Given the description of an element on the screen output the (x, y) to click on. 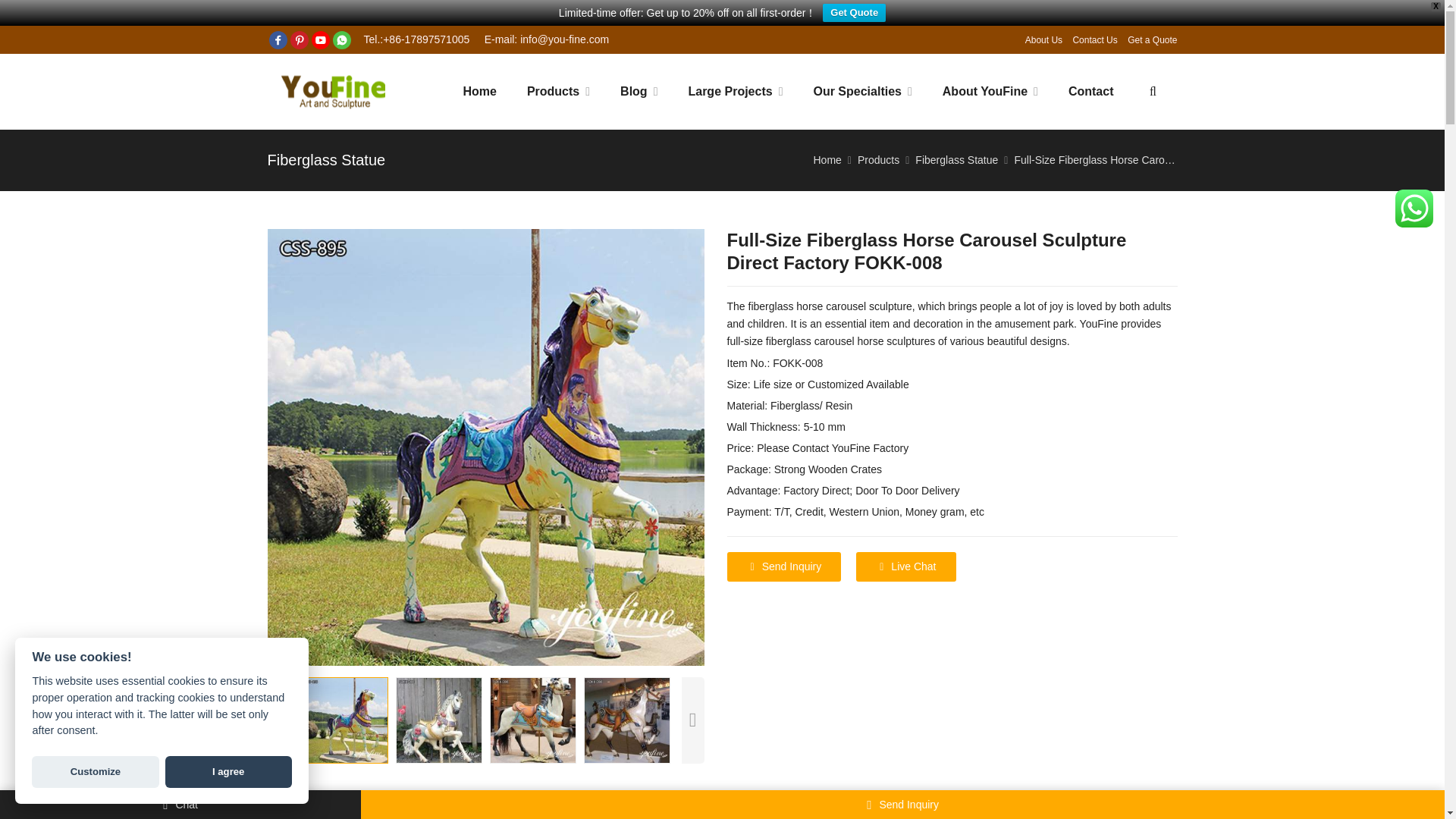
YouTube (319, 40)
Contact Us (1093, 40)
Products (558, 91)
You Fine Sculpture (332, 91)
WhatsApp (341, 40)
Facebook (277, 40)
Pinterest (298, 40)
Get Quote (853, 13)
Get a Quote (1151, 40)
About Us (1043, 40)
